Given the description of an element on the screen output the (x, y) to click on. 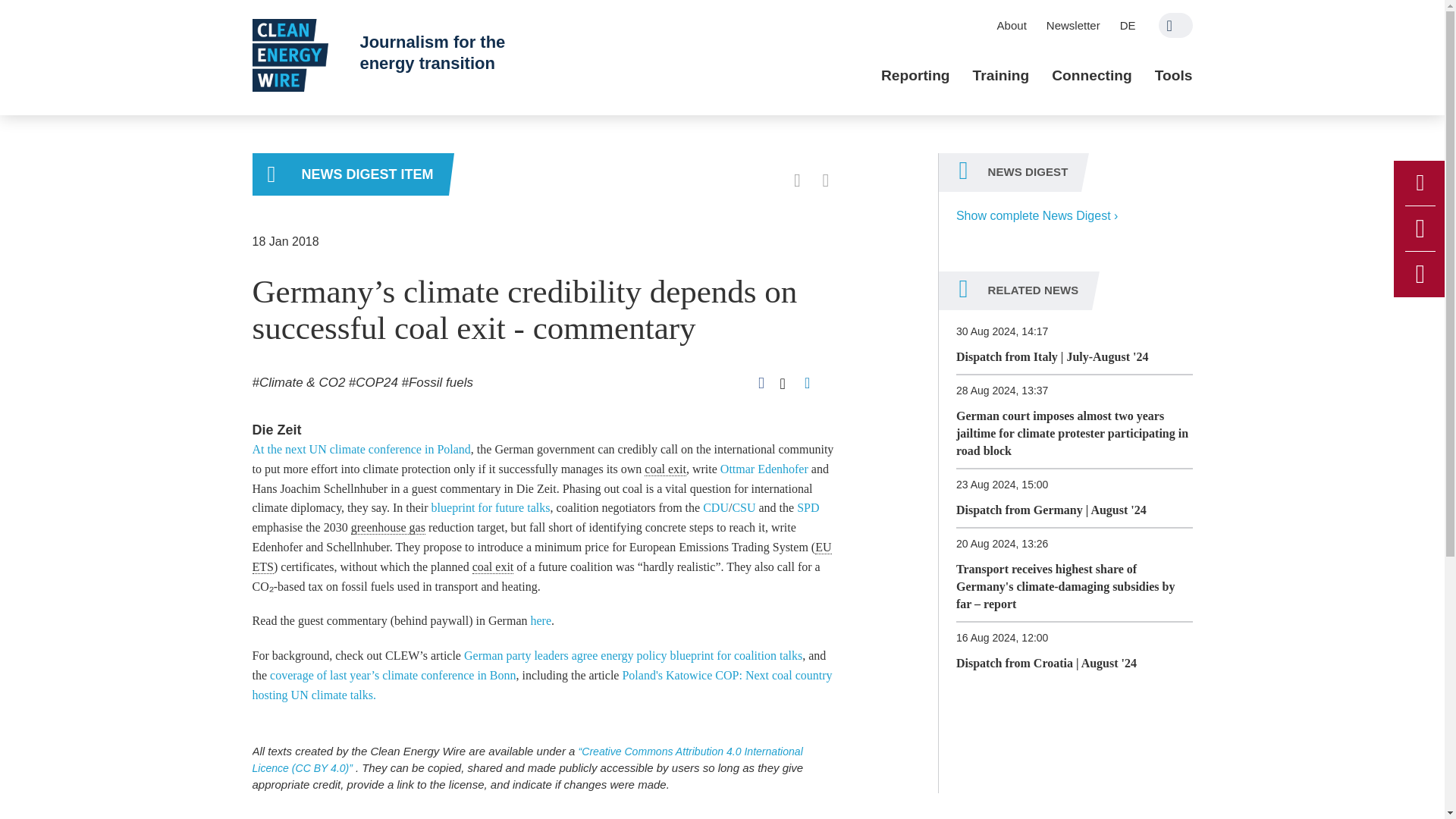
Fossil fuels (437, 382)
Connecting (1091, 75)
About (1011, 25)
NEWS DIGEST ITEM (349, 174)
At the next UN climate conference in Poland (360, 449)
COP24 (373, 382)
Newsletter (1072, 25)
Training (1000, 75)
Tools (1173, 75)
Reporting (915, 75)
